Given the description of an element on the screen output the (x, y) to click on. 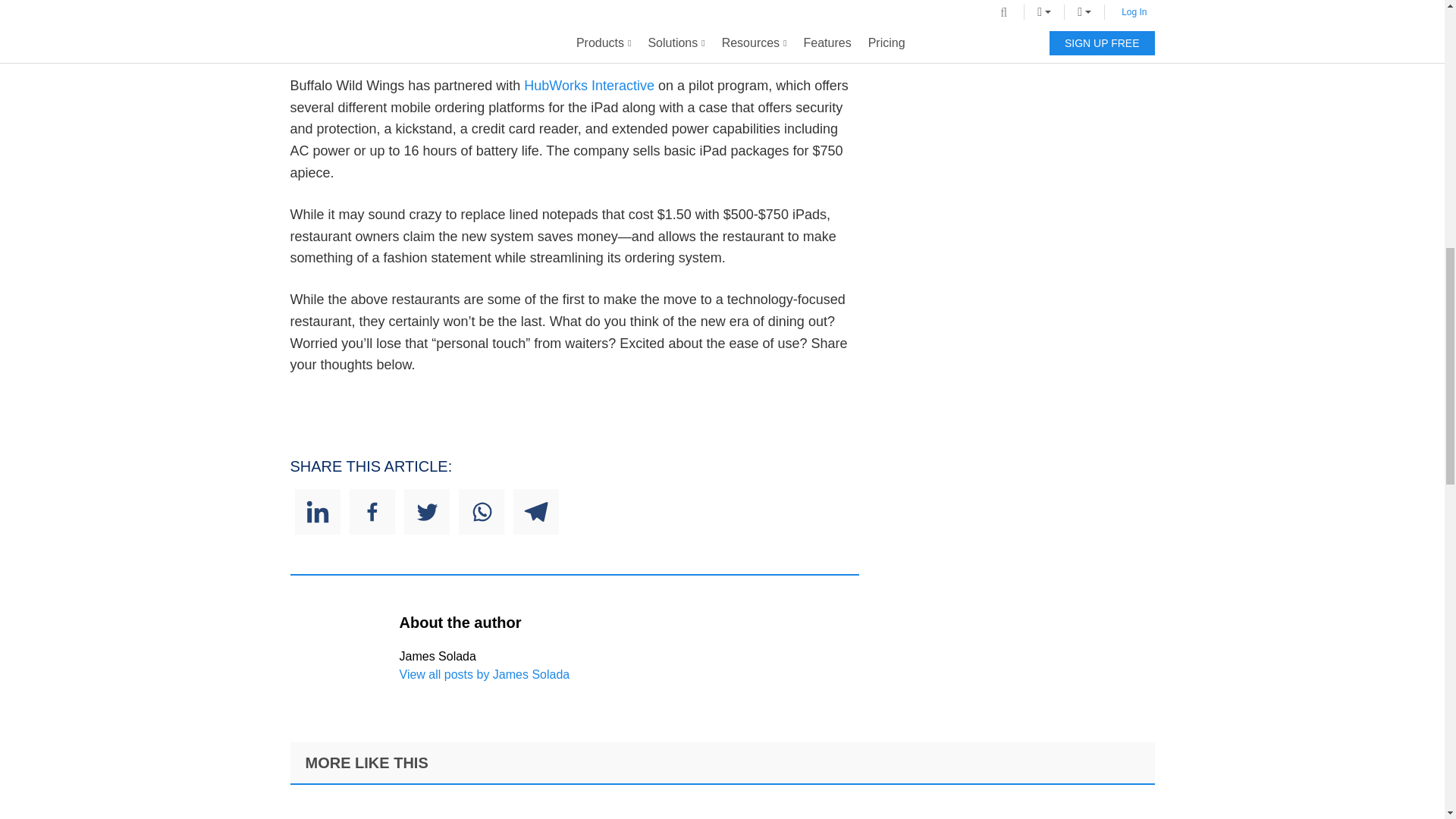
Twitter (425, 511)
Linkedin (316, 511)
Telegram (534, 511)
Whatsapp (480, 511)
Facebook (371, 511)
